Given the description of an element on the screen output the (x, y) to click on. 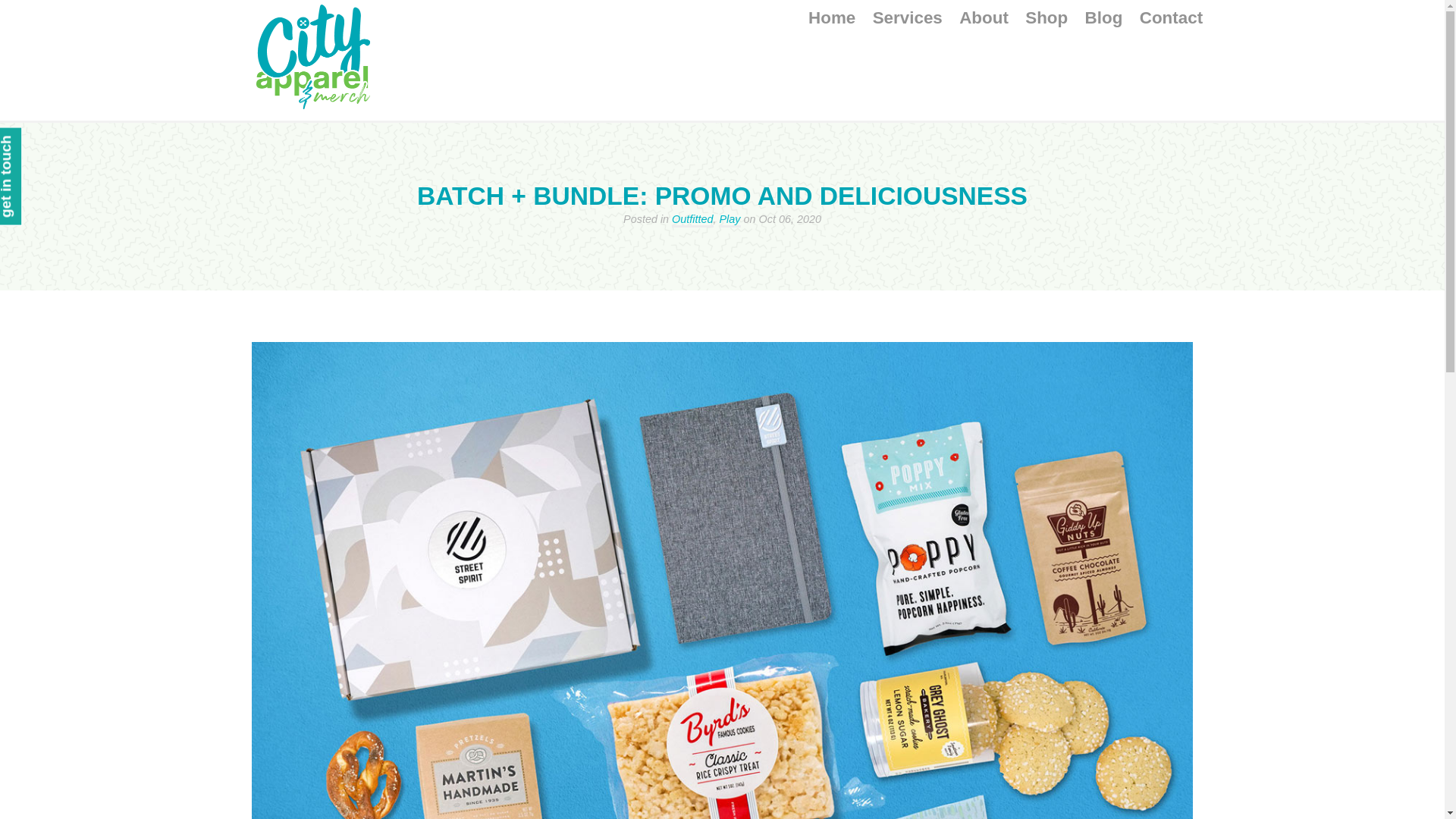
Home (832, 17)
Services (907, 17)
get in touch (25, 175)
Outfitted (692, 219)
About (984, 17)
Contact (1171, 17)
Blog (1103, 17)
get in touch (43, 143)
Shop (1046, 17)
Play (729, 219)
